Given the description of an element on the screen output the (x, y) to click on. 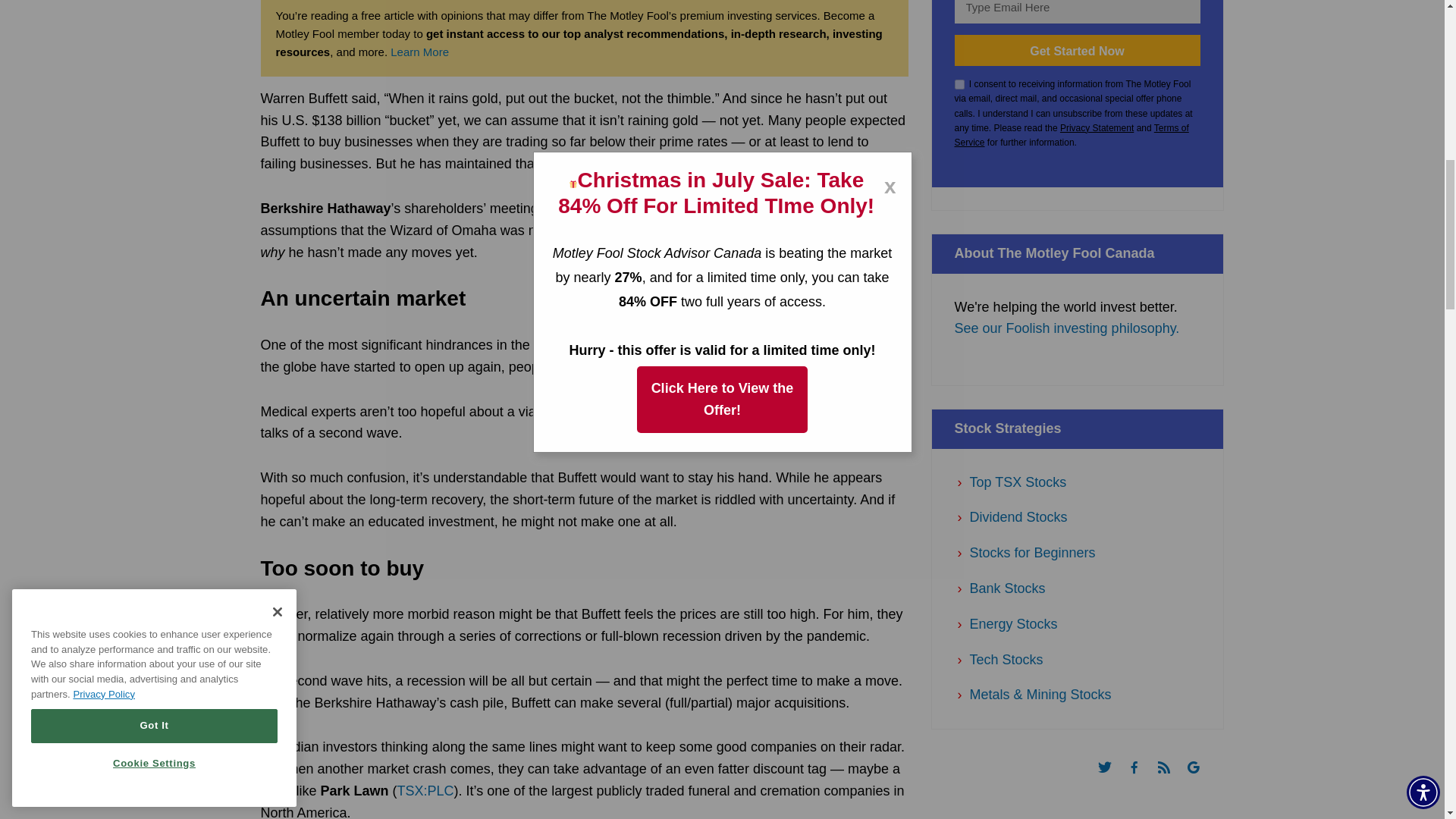
on (958, 84)
Follow us on Twitter (1111, 780)
Subscribe to our feed (1171, 780)
Like us on Facebook (1141, 780)
